Given the description of an element on the screen output the (x, y) to click on. 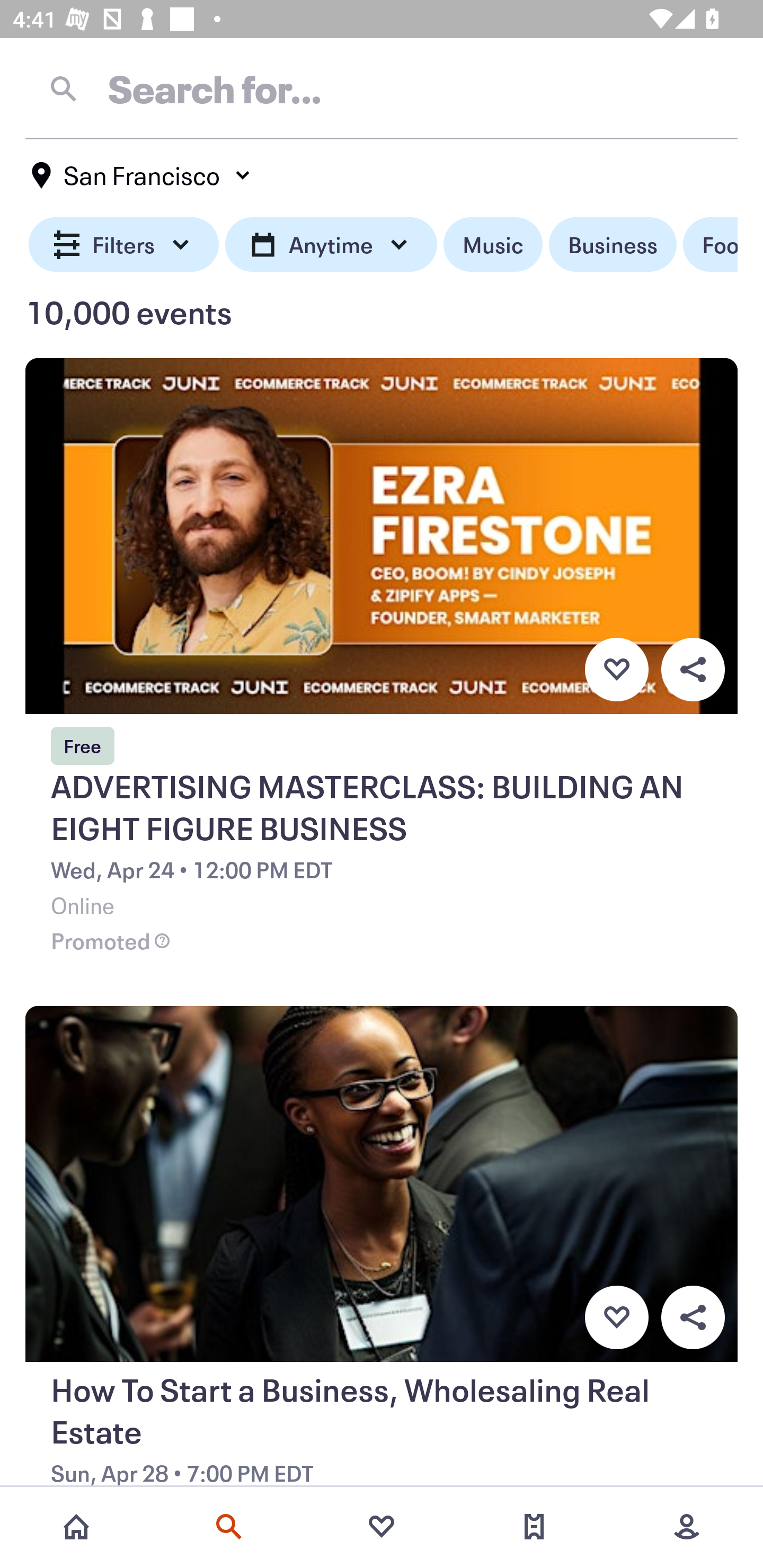
Search for… (381, 88)
San Francisco (141, 175)
Filters (123, 244)
Anytime (331, 244)
Music (492, 244)
Business (612, 244)
Favorite button (616, 669)
Overflow menu button (692, 669)
Favorite button (616, 1317)
Overflow menu button (692, 1317)
Home (76, 1526)
Search events (228, 1526)
Favorites (381, 1526)
Tickets (533, 1526)
More (686, 1526)
